Given the description of an element on the screen output the (x, y) to click on. 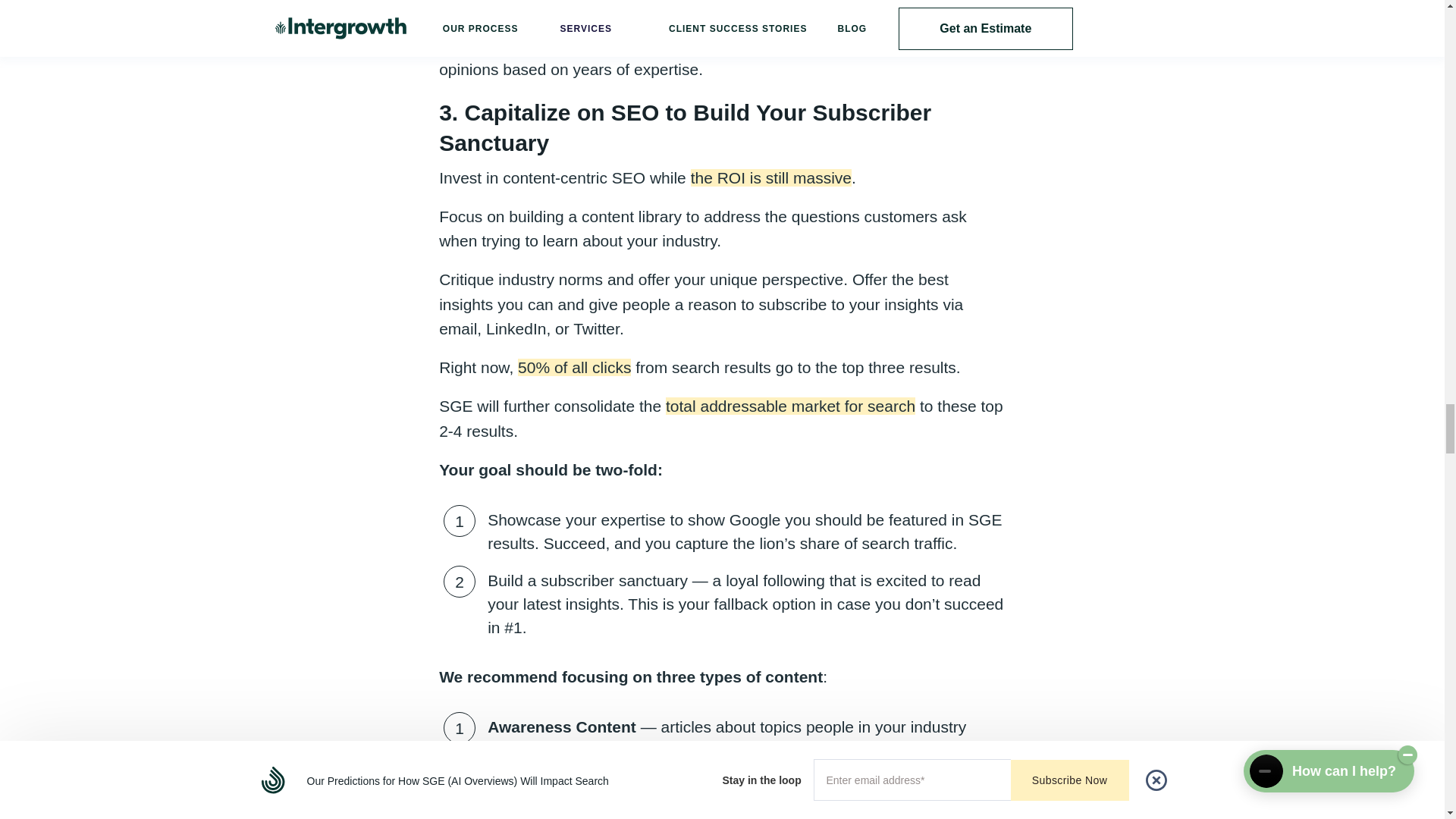
total addressable market for search (790, 405)
the ROI is still massive (770, 177)
